Given the description of an element on the screen output the (x, y) to click on. 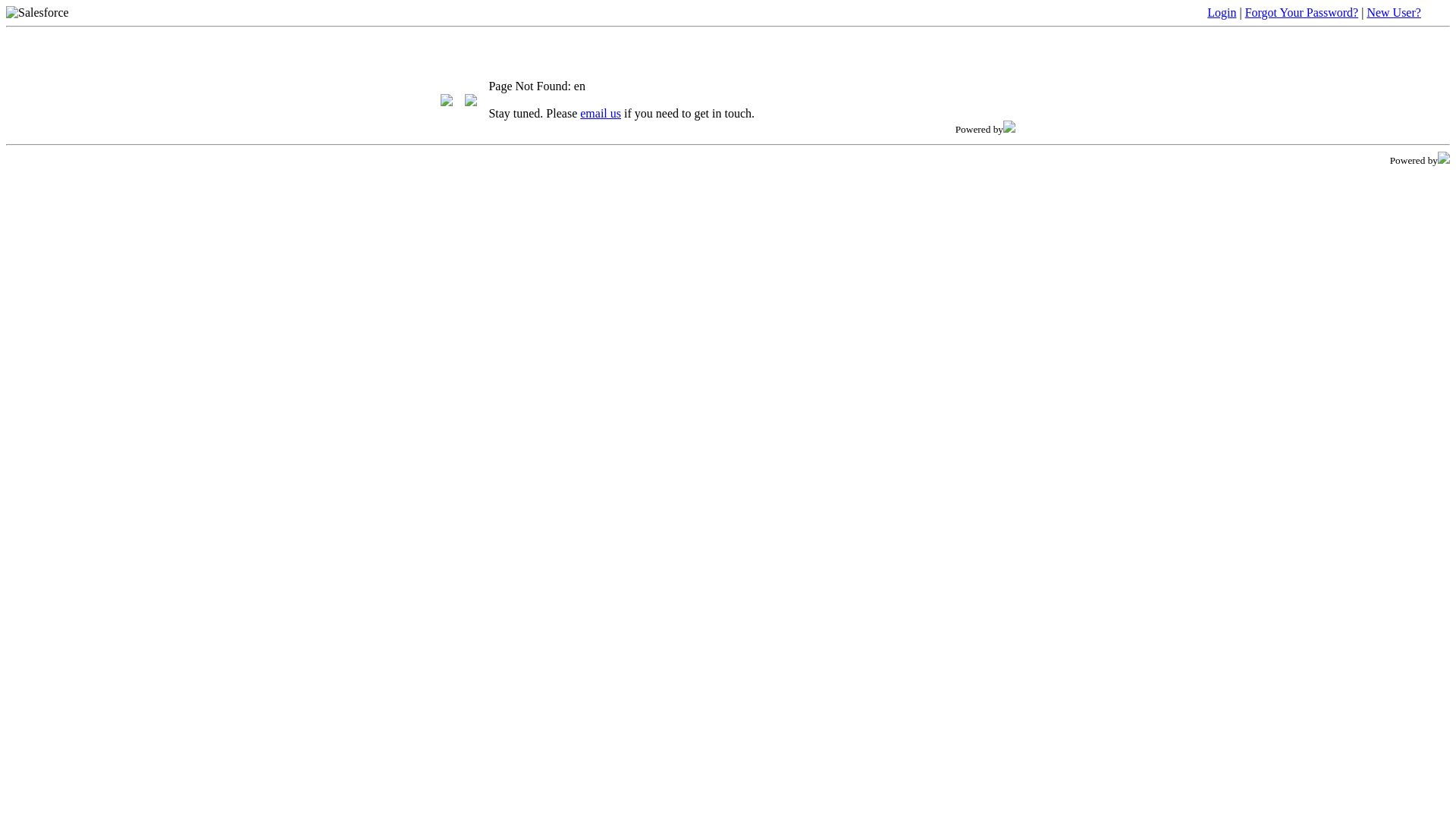
email us Element type: text (600, 112)
Forgot Your Password? Element type: text (1301, 12)
Salesforce Element type: hover (37, 12)
New User? Element type: text (1393, 12)
Login Element type: text (1221, 12)
